Given the description of an element on the screen output the (x, y) to click on. 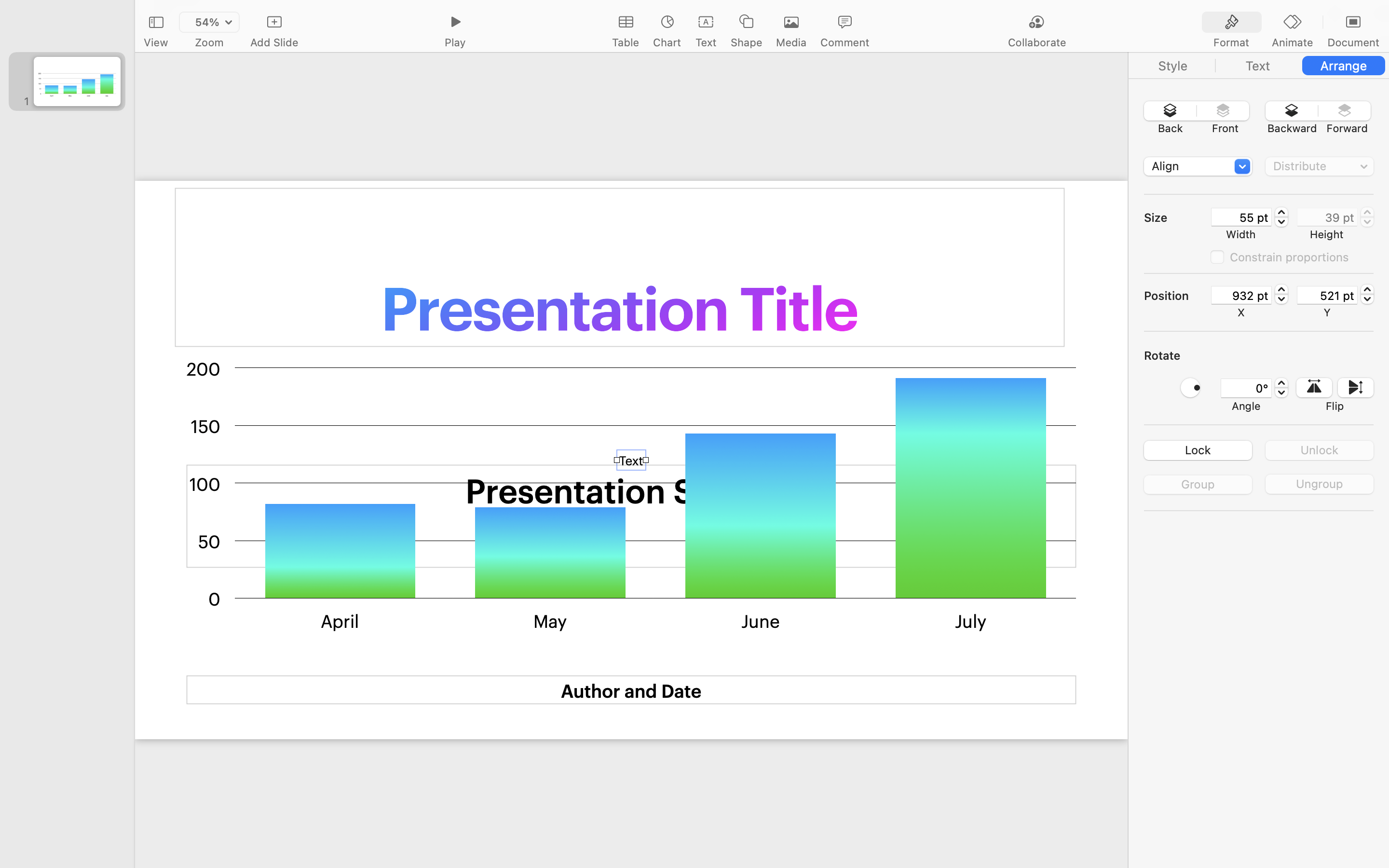
Zoom Element type: AXStaticText (208, 42)
Format Element type: AXStaticText (1230, 42)
Width Element type: AXStaticText (1240, 234)
55.128 Element type: AXIncrementor (1281, 216)
